Given the description of an element on the screen output the (x, y) to click on. 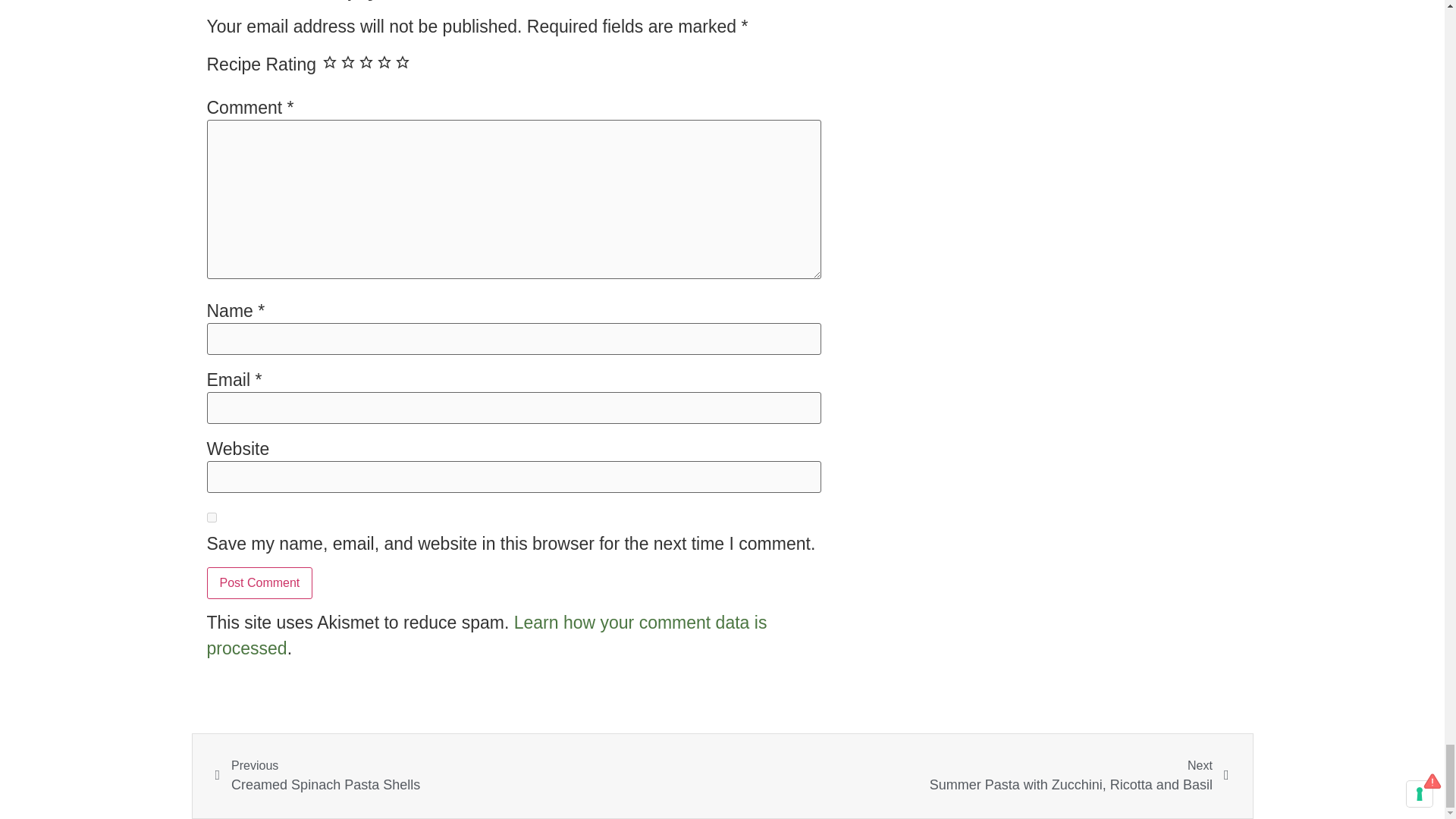
Post Comment (259, 582)
yes (210, 517)
